Given the description of an element on the screen output the (x, y) to click on. 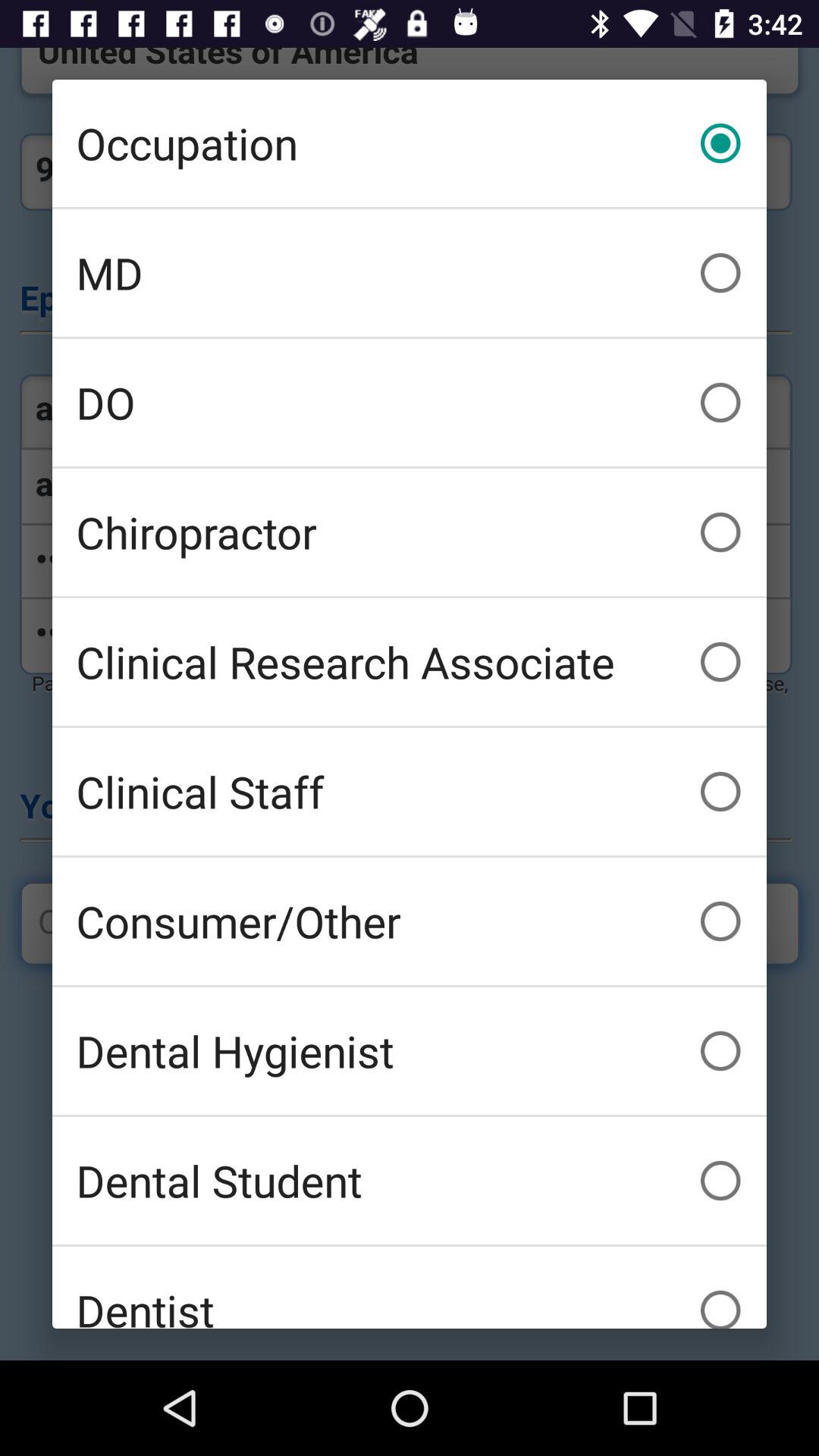
tap icon above md (409, 143)
